Given the description of an element on the screen output the (x, y) to click on. 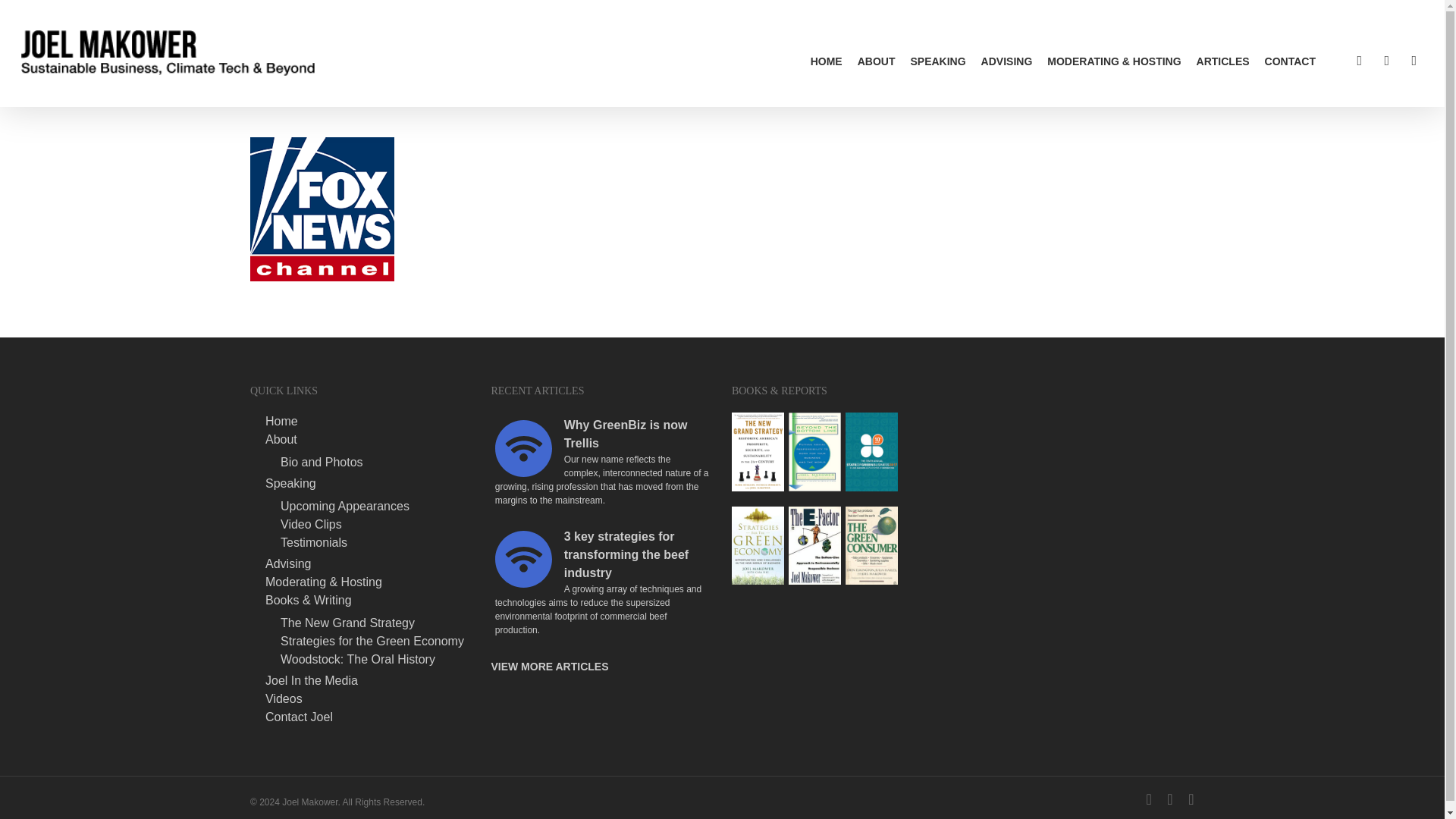
VIEW MORE ARTICLES (549, 666)
ADVISING (1007, 61)
Videos (367, 698)
Speaking (367, 483)
SPEAKING (937, 61)
HOME (826, 61)
Upcoming Appearances (376, 506)
Bio and Photos (376, 462)
About (367, 439)
Video Clips (376, 524)
Joel In the Media (367, 680)
3 key strategies for transforming the beef industry (523, 559)
Home (367, 421)
CONTACT (1290, 61)
Strategies for the Green Economy (376, 641)
